Given the description of an element on the screen output the (x, y) to click on. 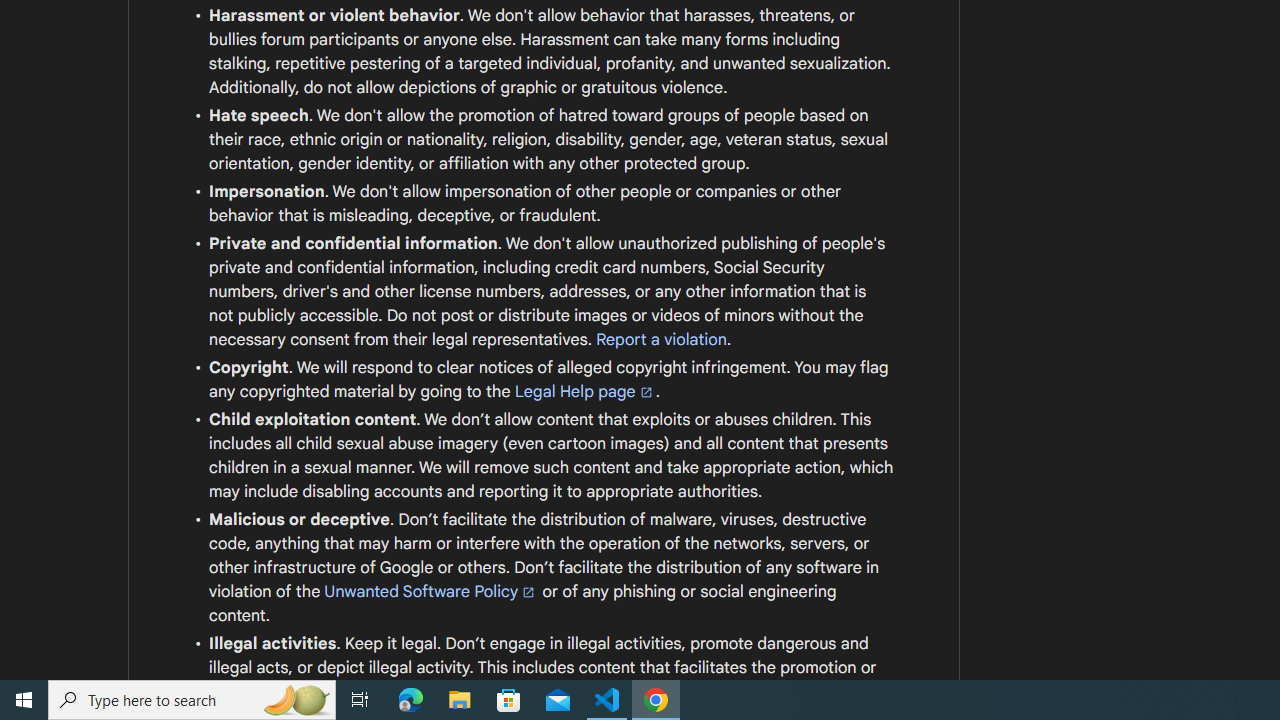
Unwanted Software Policy (430, 591)
Legal Help page (584, 391)
Report a violation (661, 339)
